Given the description of an element on the screen output the (x, y) to click on. 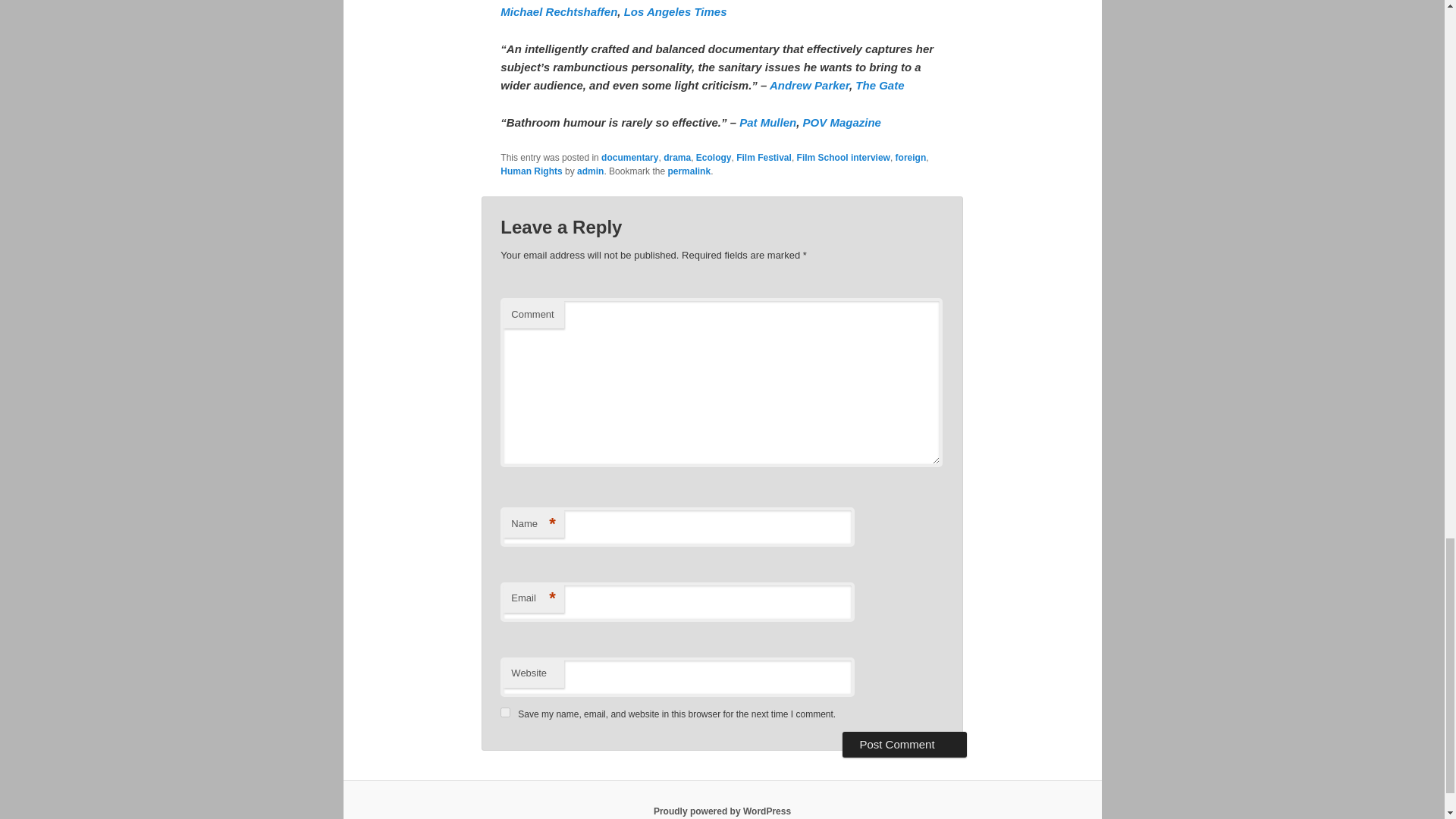
Post Comment (904, 744)
Human Rights (531, 171)
permalink (688, 171)
Semantic Personal Publishing Platform (721, 810)
foreign (910, 157)
documentary (629, 157)
Post Comment (904, 744)
Film School interview (842, 157)
Los Angeles Times (675, 11)
drama (676, 157)
admin (590, 171)
Ecology (713, 157)
The Gate (880, 84)
Andrew Parker (809, 84)
Film Festival (764, 157)
